Given the description of an element on the screen output the (x, y) to click on. 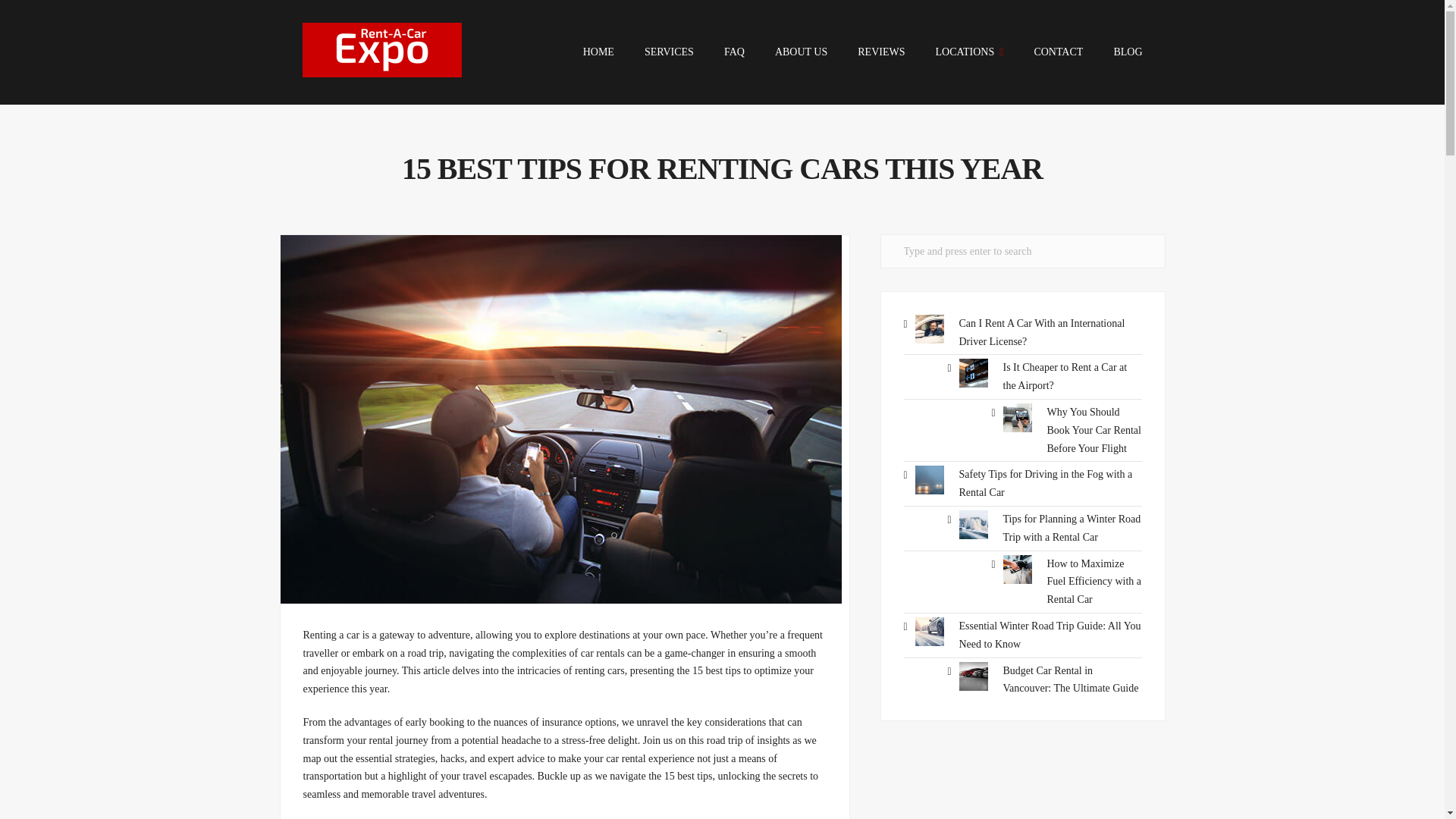
Tips for Planning a Winter Road Trip with a Rental Car (1071, 527)
SERVICES (669, 52)
Can I Rent A Car With an International Driver License? (1041, 332)
Safety Tips for Driving in the Fog with a Rental Car (1045, 482)
LOCATIONS (968, 52)
ABOUT US (800, 52)
HOME (598, 52)
Is It Cheaper to Rent a Car at the Airport? (1064, 376)
Budget Car Rental in Vancouver: The Ultimate Guide (1070, 679)
How to Maximize Fuel Efficiency with a Rental Car (1093, 581)
CONTACT (1058, 52)
REVIEWS (880, 52)
Why You Should Book Your Car Rental Before Your Flight (1093, 430)
Essential Winter Road Trip Guide: All You Need to Know (1049, 634)
